Given the description of an element on the screen output the (x, y) to click on. 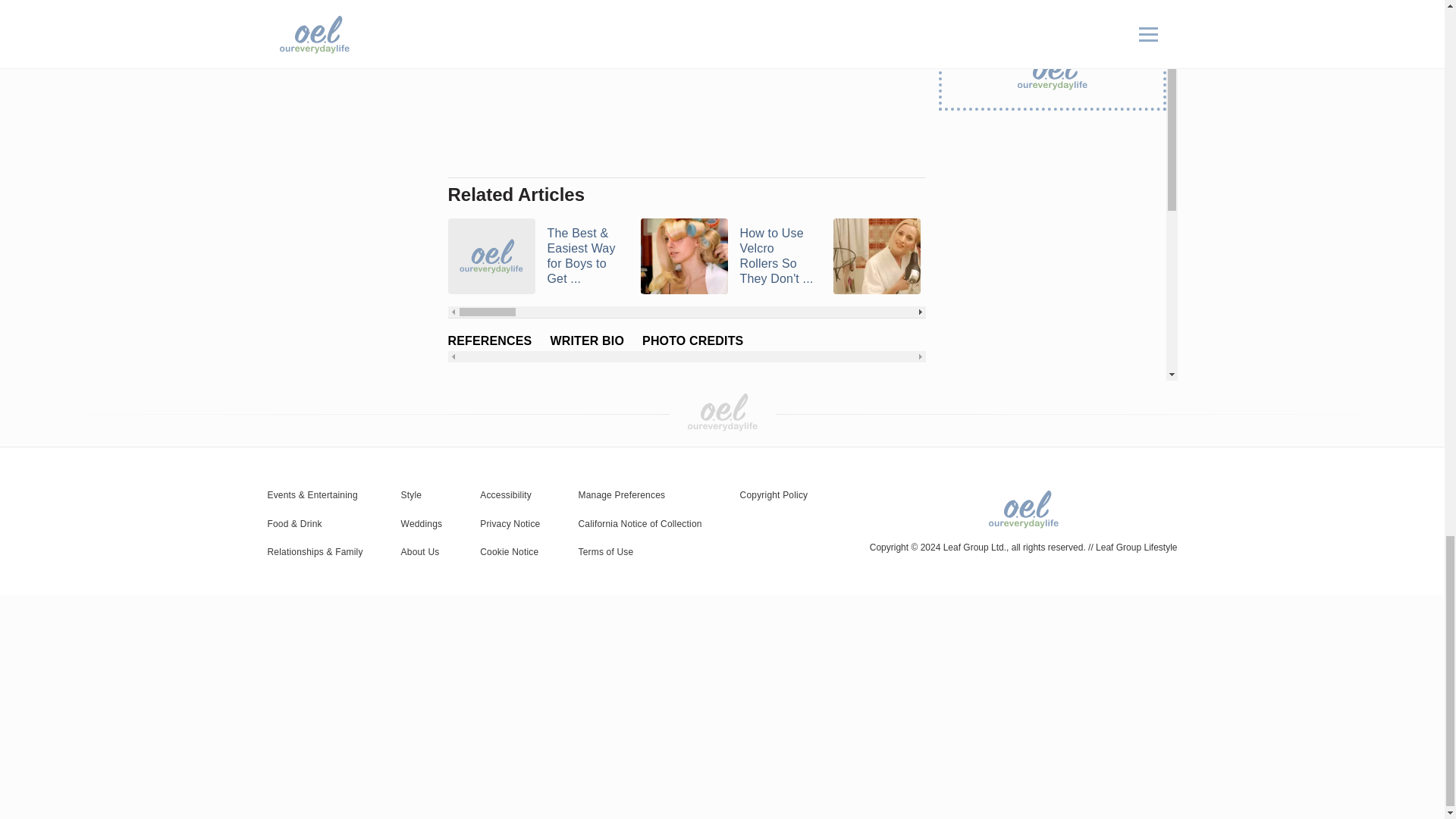
How to Use a Curling Brush (1112, 256)
Advertisement (685, 84)
How to Blow-Dry Hair Straight With a ... (919, 256)
Old-Fashioned Ways to Curl Long Hair (1304, 256)
How to Use Velcro Rollers So They Don't ... (726, 256)
